Given the description of an element on the screen output the (x, y) to click on. 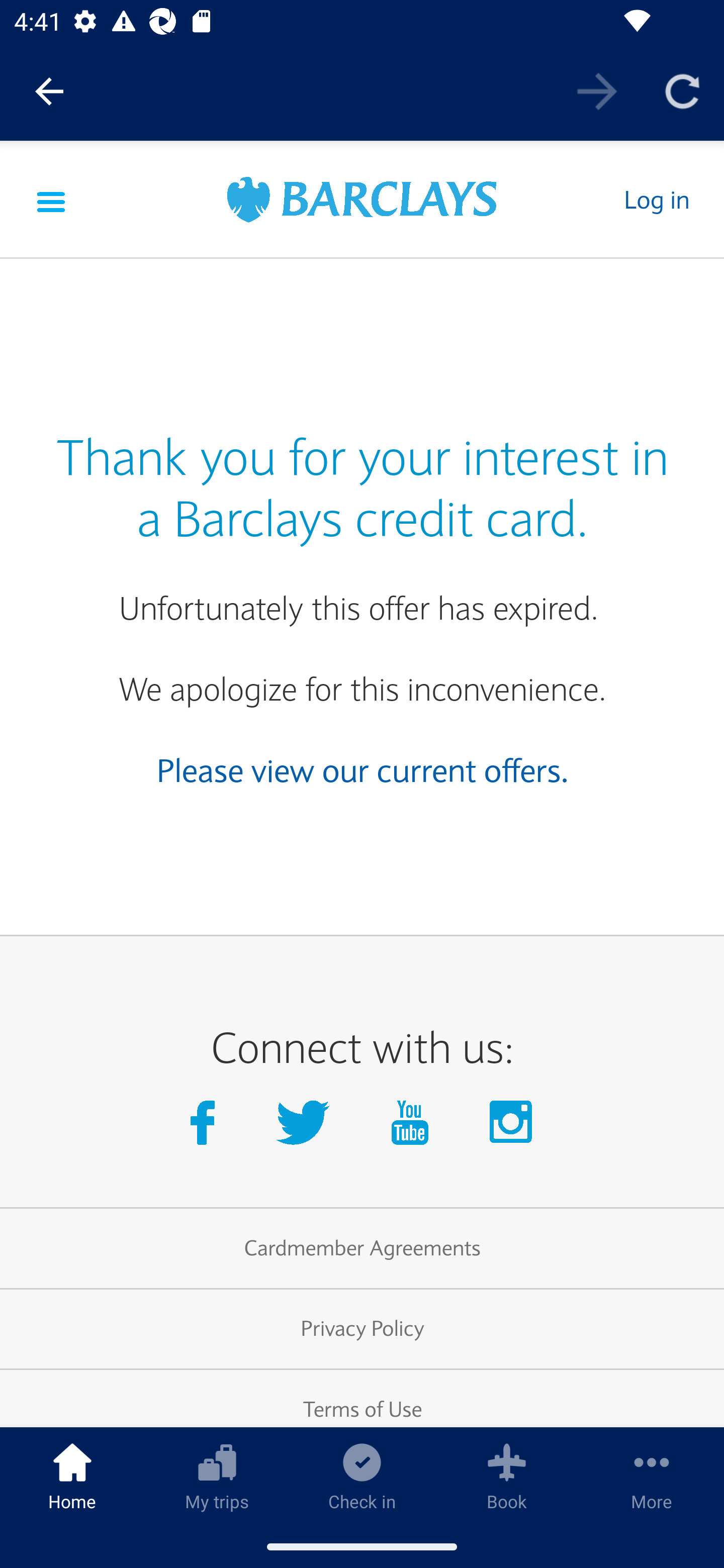
Navigate up (49, 91)
Forward (597, 90)
Reload (681, 90)
Menu (51, 199)
Log in (655, 199)
Barclays (362, 201)
Please view our current offers. (362, 770)
Connect with Barclays US on Facebook (205, 1127)
Follow Barclays US on Twitter (306, 1127)
Watch Barclays US videos on YouTube (414, 1127)
Follow Barclays US on Instagram (512, 1127)
Cardmember Agreements (362, 1247)
Privacy Policy (362, 1328)
Terms of Use (362, 1398)
My trips (216, 1475)
Check in (361, 1475)
Book (506, 1475)
More (651, 1475)
